Given the description of an element on the screen output the (x, y) to click on. 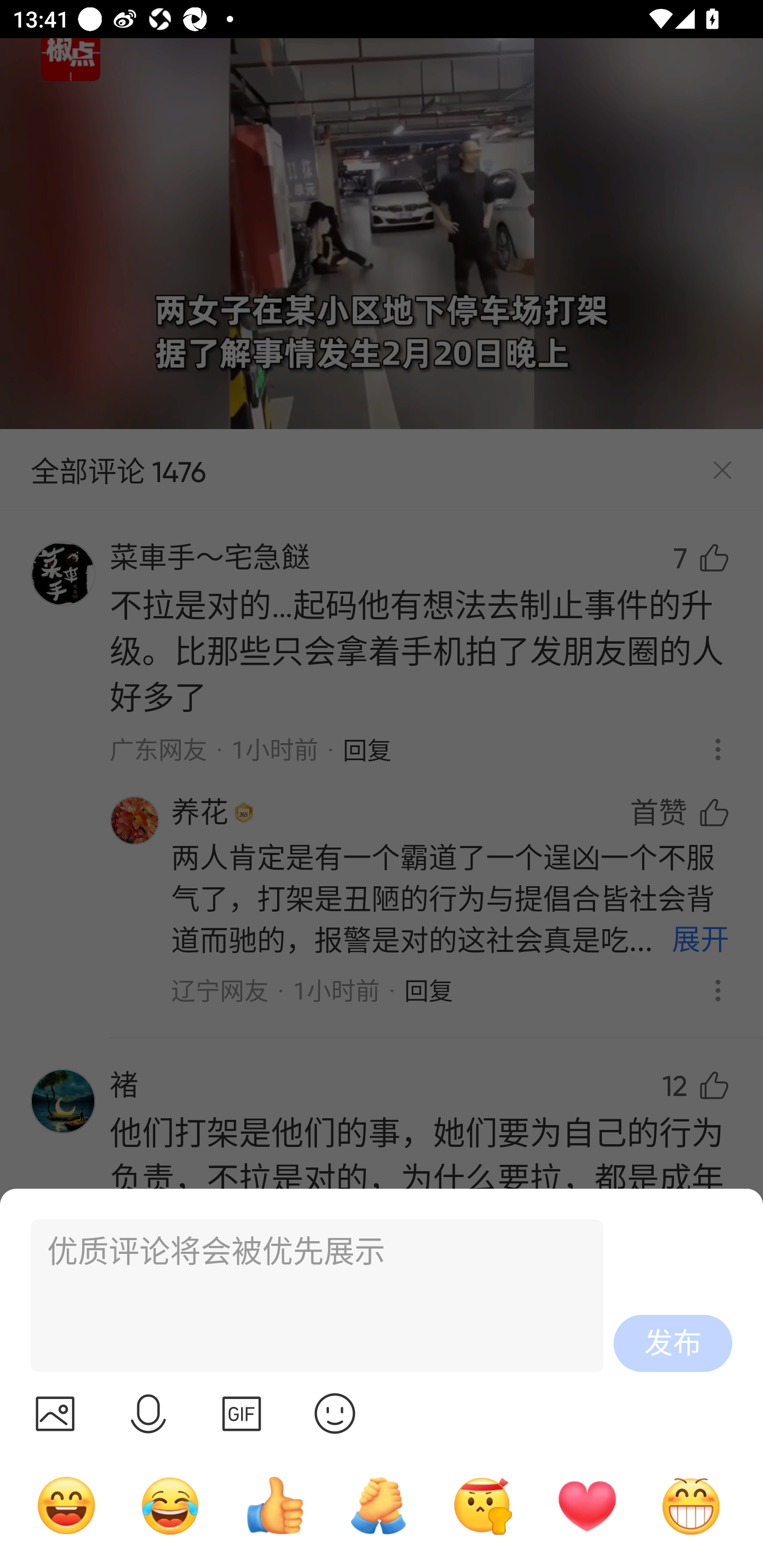
优质评论将会被优先展示 (308, 1295)
发布 (672, 1343)
 (54, 1413)
 (148, 1413)
 (241, 1413)
 (334, 1413)
哈哈 (66, 1505)
哭笑 (170, 1505)
点赞 (274, 1505)
加油 (378, 1505)
奋斗 (482, 1505)
心 (586, 1505)
呲牙 (690, 1505)
